Given the description of an element on the screen output the (x, y) to click on. 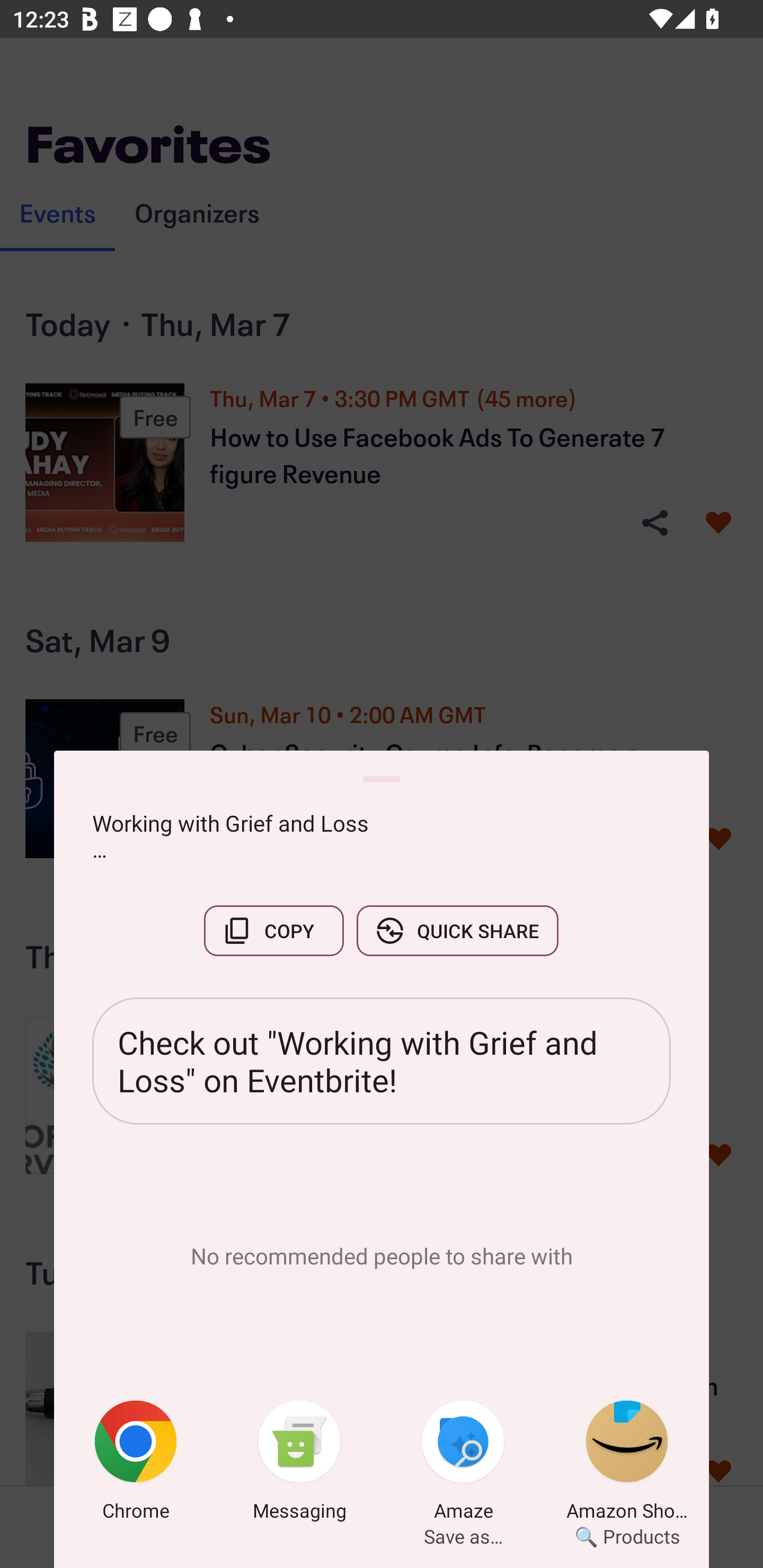
COPY (273, 930)
QUICK SHARE (457, 930)
Chrome (135, 1463)
Messaging (299, 1463)
Amaze Save as… (463, 1463)
Amazon Shopping 🔍 Products (626, 1463)
